Given the description of an element on the screen output the (x, y) to click on. 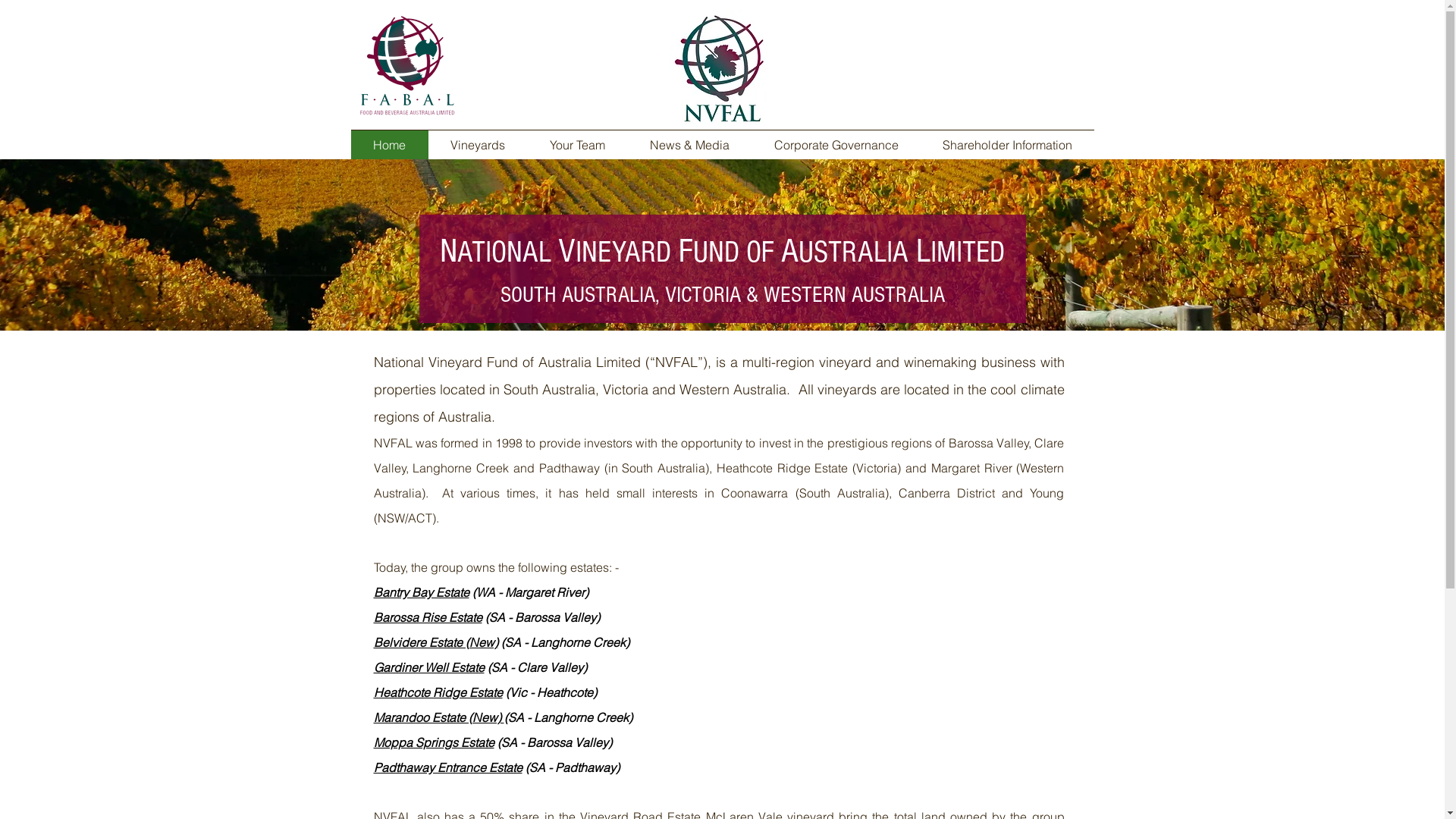
Shareholder Information Element type: text (1007, 144)
Barossa Rise Estate Element type: text (427, 616)
Vineyards Element type: text (477, 144)
Heathcote Ridge Estate Element type: text (437, 691)
Padthaway Entrance Estate Element type: text (447, 767)
Marandoo Estate (New) Element type: text (438, 716)
Moppa Springs Estate Element type: text (433, 741)
Belvidere Estate (New) Element type: text (435, 641)
Home Element type: text (388, 144)
NVFAL Logo.jpg Element type: hover (718, 68)
News & Media Element type: text (689, 144)
Gardiner Well Estate Element type: text (428, 666)
Corporate Governance Element type: text (836, 144)
Bantry Bay Estate Element type: text (420, 591)
Your Team Element type: text (577, 144)
